Given the description of an element on the screen output the (x, y) to click on. 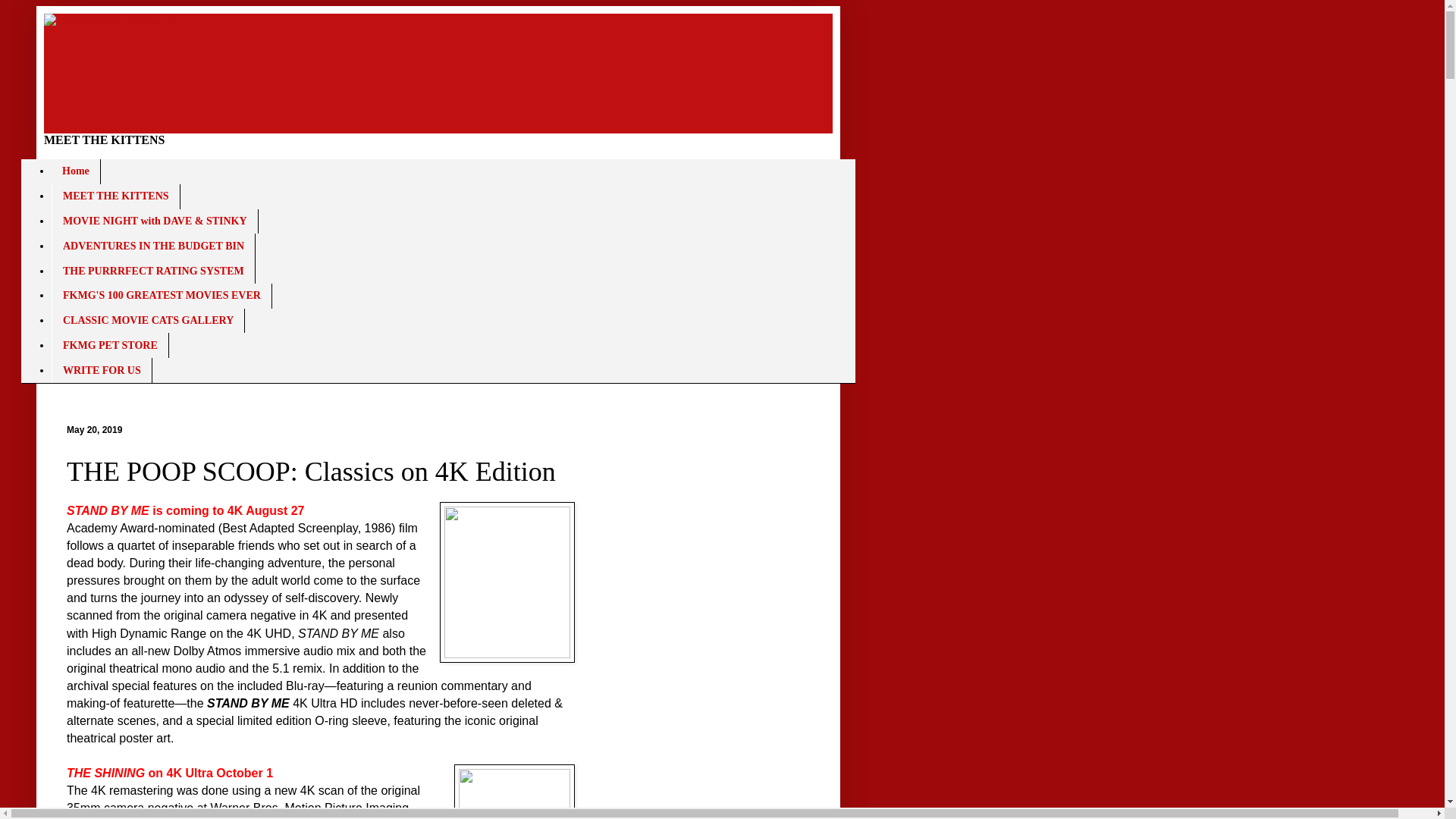
WRITE FOR US (101, 370)
ADVENTURES IN THE BUDGET BIN (153, 245)
FKMG PET STORE (109, 344)
MEET THE KITTENS (115, 196)
FKMG'S 100 GREATEST MOVIES EVER (161, 295)
THE PURRRFECT RATING SYSTEM (153, 270)
Home (75, 171)
CLASSIC MOVIE CATS GALLERY (147, 320)
